Given the description of an element on the screen output the (x, y) to click on. 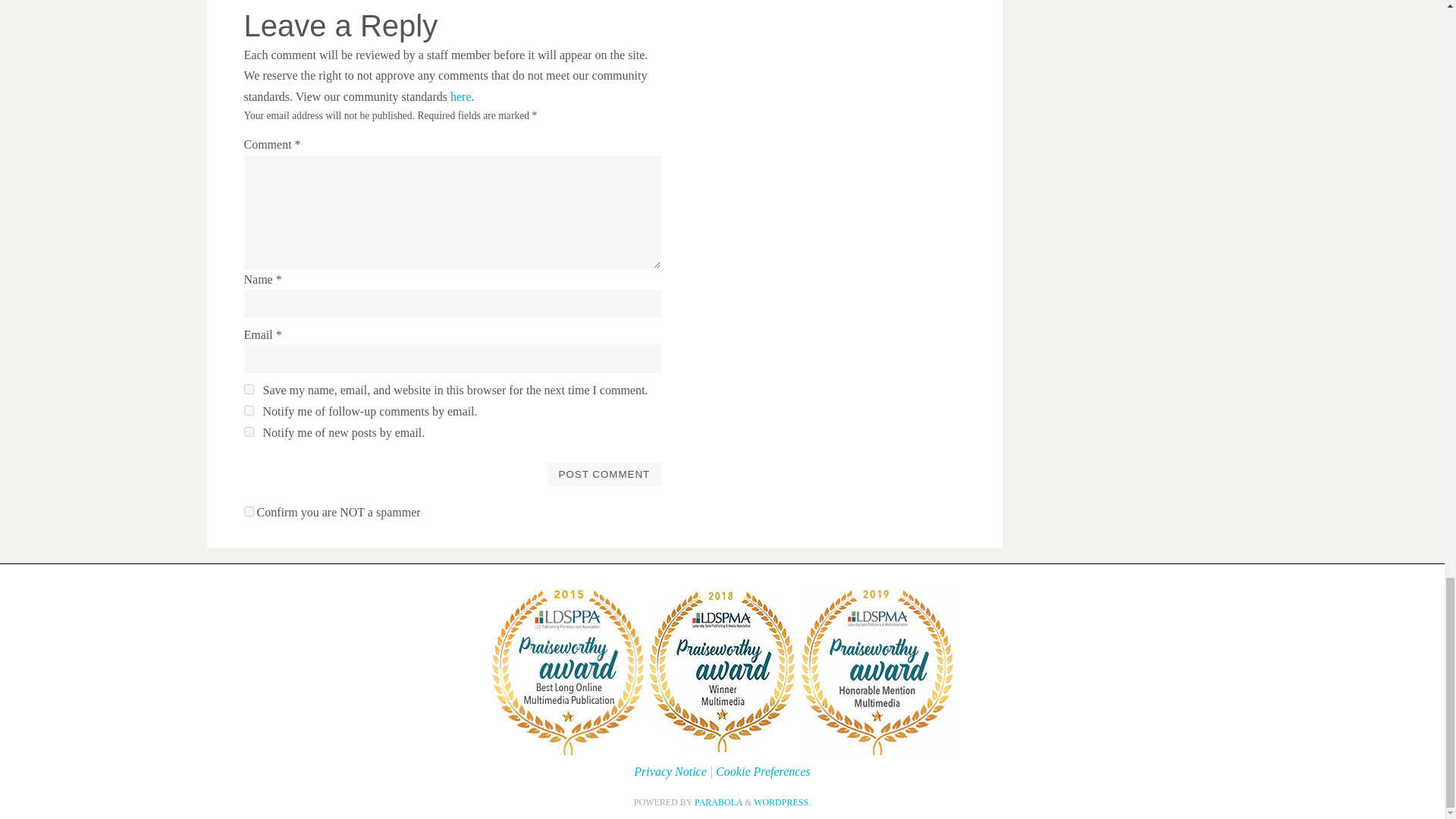
Post Comment (604, 473)
subscribe (248, 431)
yes (248, 388)
on (248, 511)
subscribe (248, 410)
